Given the description of an element on the screen output the (x, y) to click on. 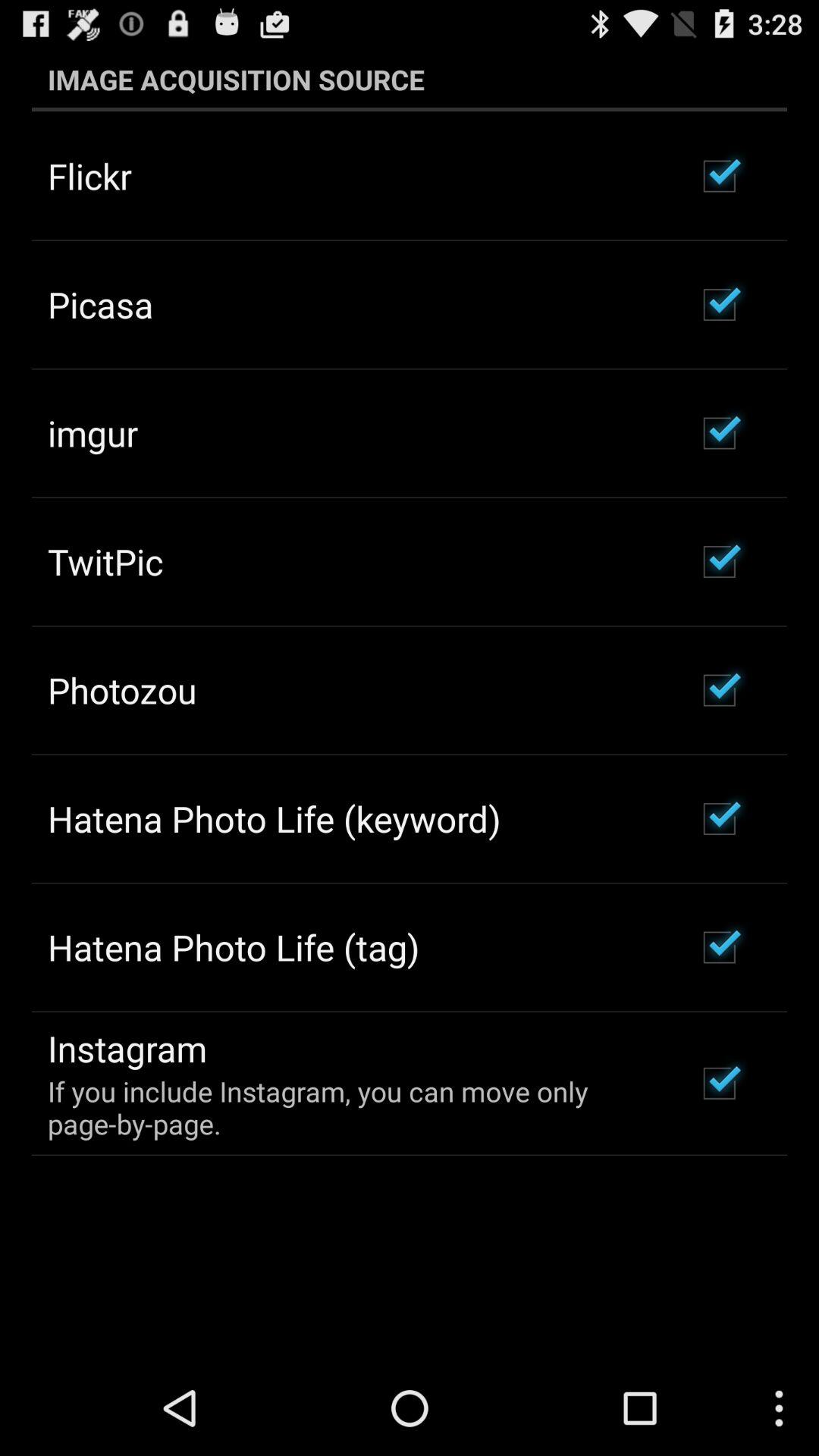
select imgur (92, 432)
